Given the description of an element on the screen output the (x, y) to click on. 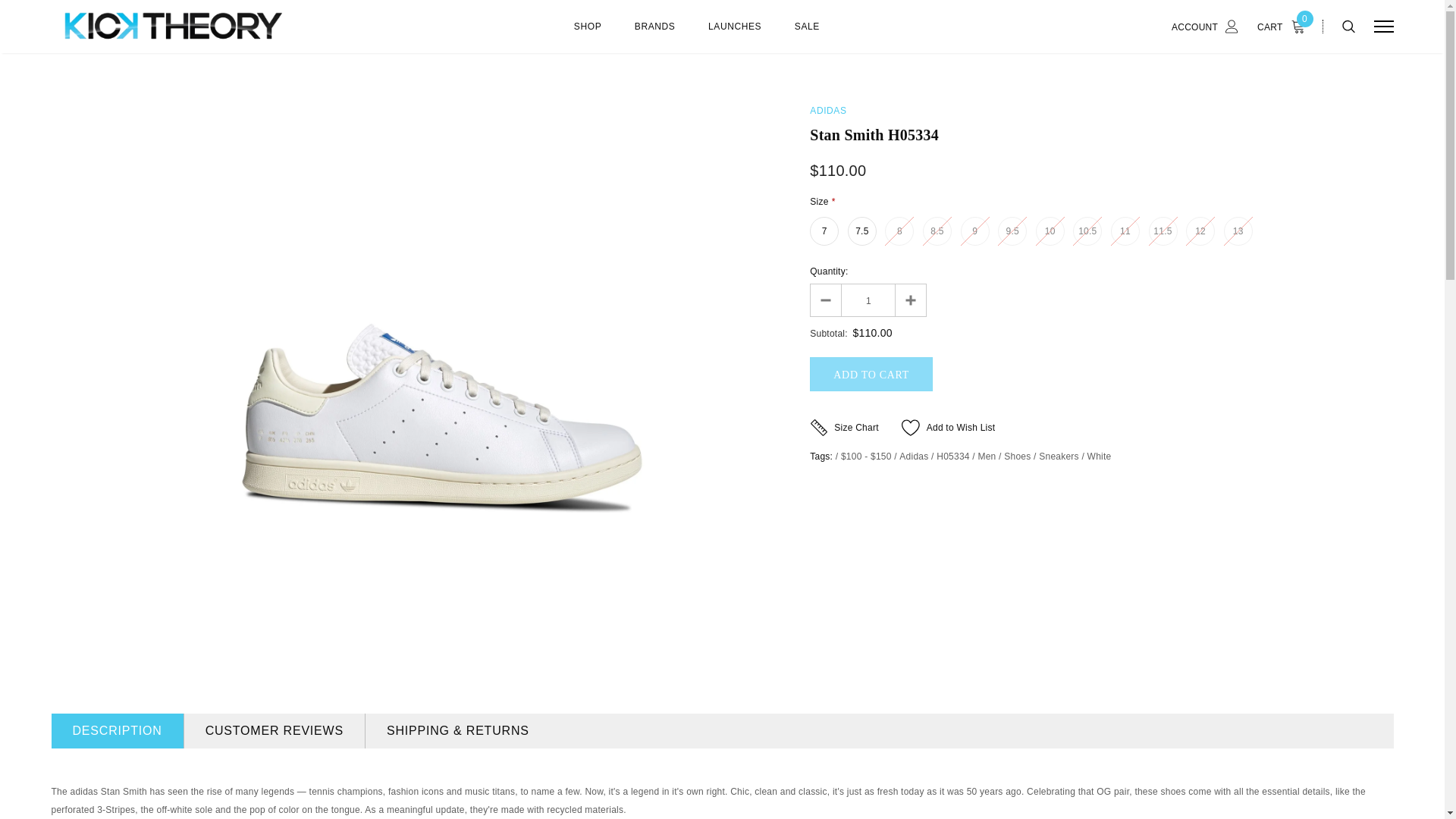
Cart (1285, 26)
Add to Cart (871, 374)
Adidas (827, 110)
Right Menu (1383, 25)
Logo (167, 26)
1 (868, 300)
BRANDS (654, 35)
